Given the description of an element on the screen output the (x, y) to click on. 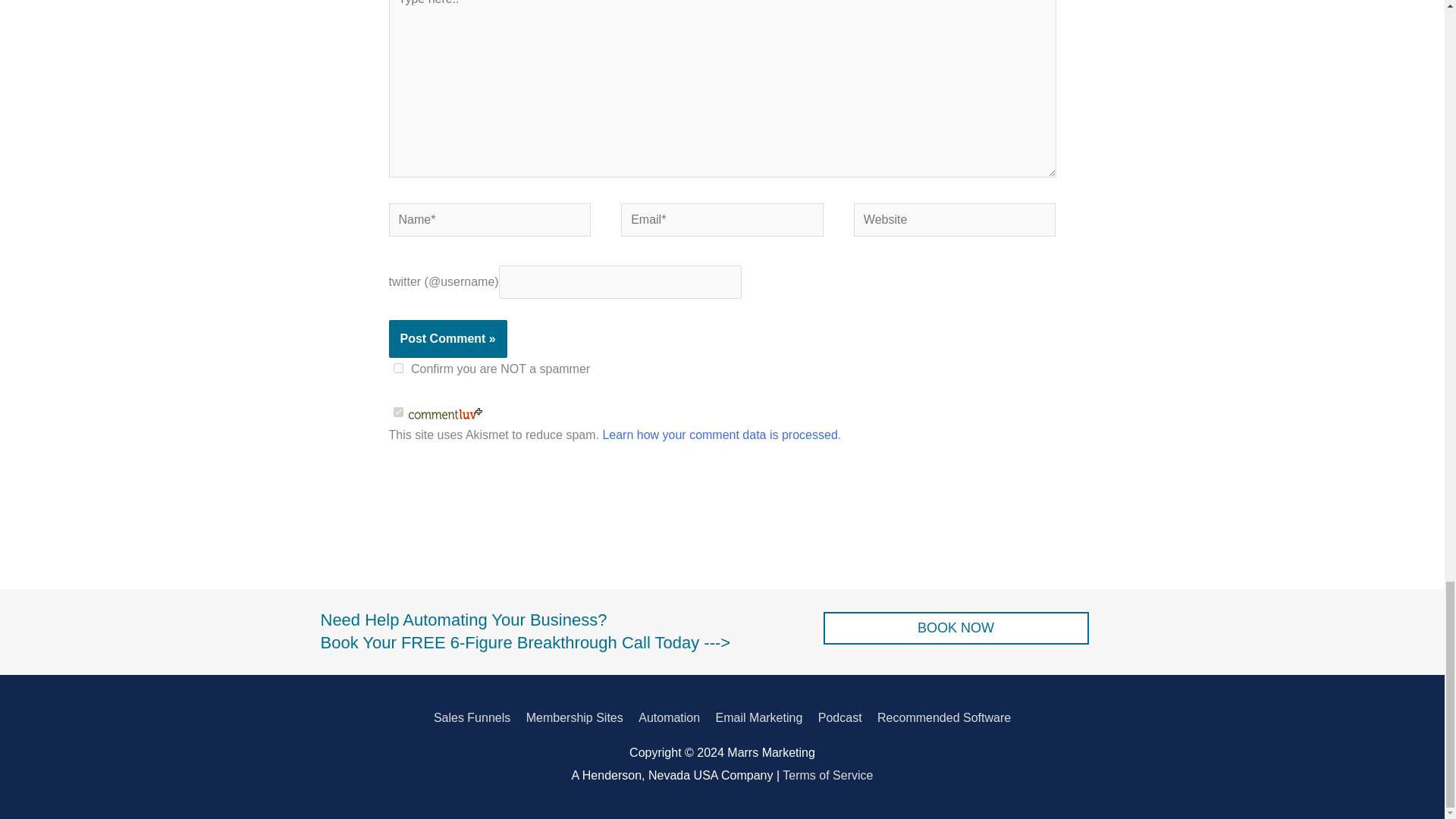
on (397, 411)
CommentLuv is enabled (445, 412)
on (397, 368)
